Given the description of an element on the screen output the (x, y) to click on. 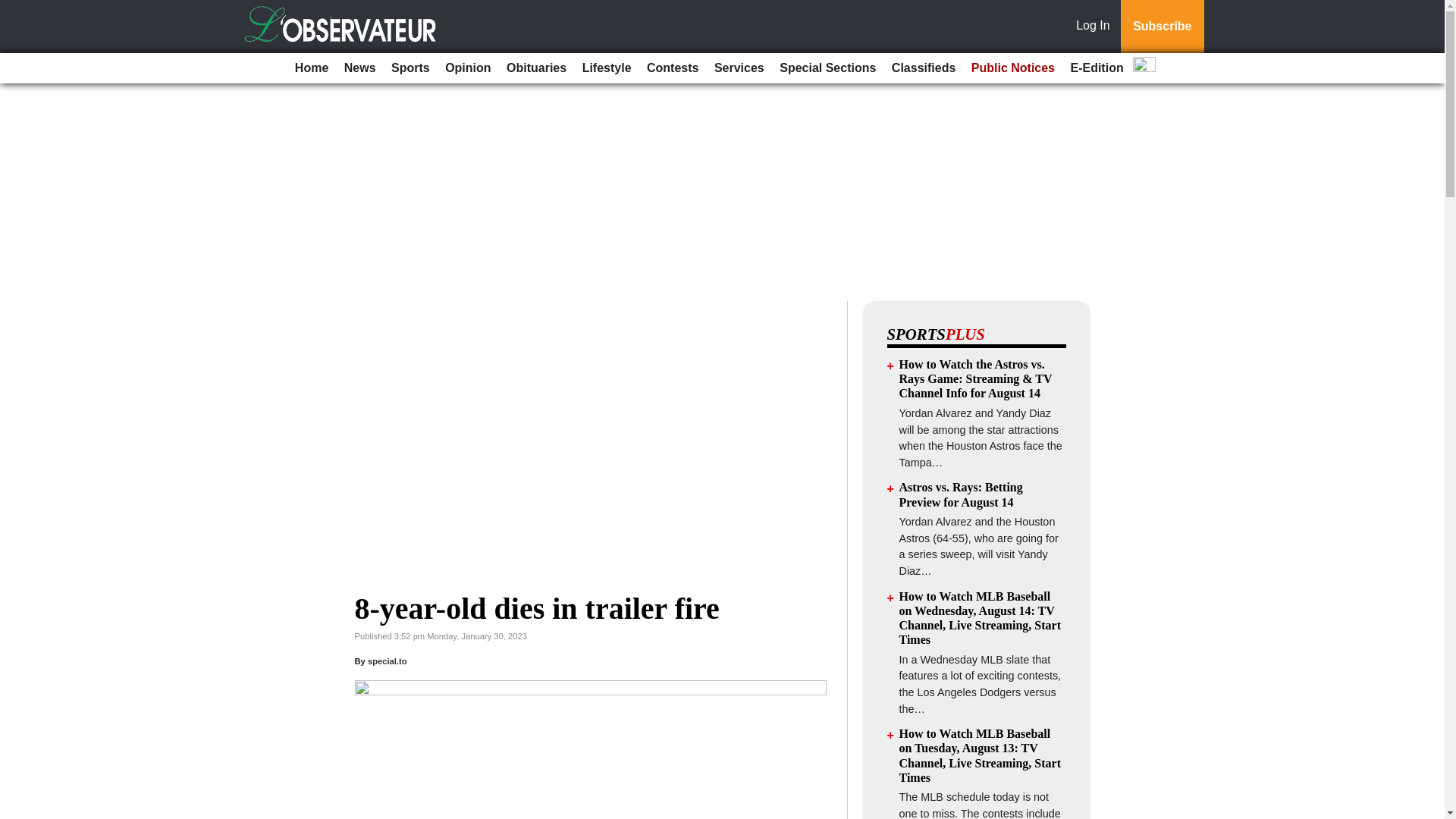
Special Sections (827, 68)
Subscribe (1162, 26)
special.to (387, 660)
Contests (672, 68)
Obituaries (536, 68)
Services (738, 68)
E-Edition (1096, 68)
Opinion (467, 68)
